Given the description of an element on the screen output the (x, y) to click on. 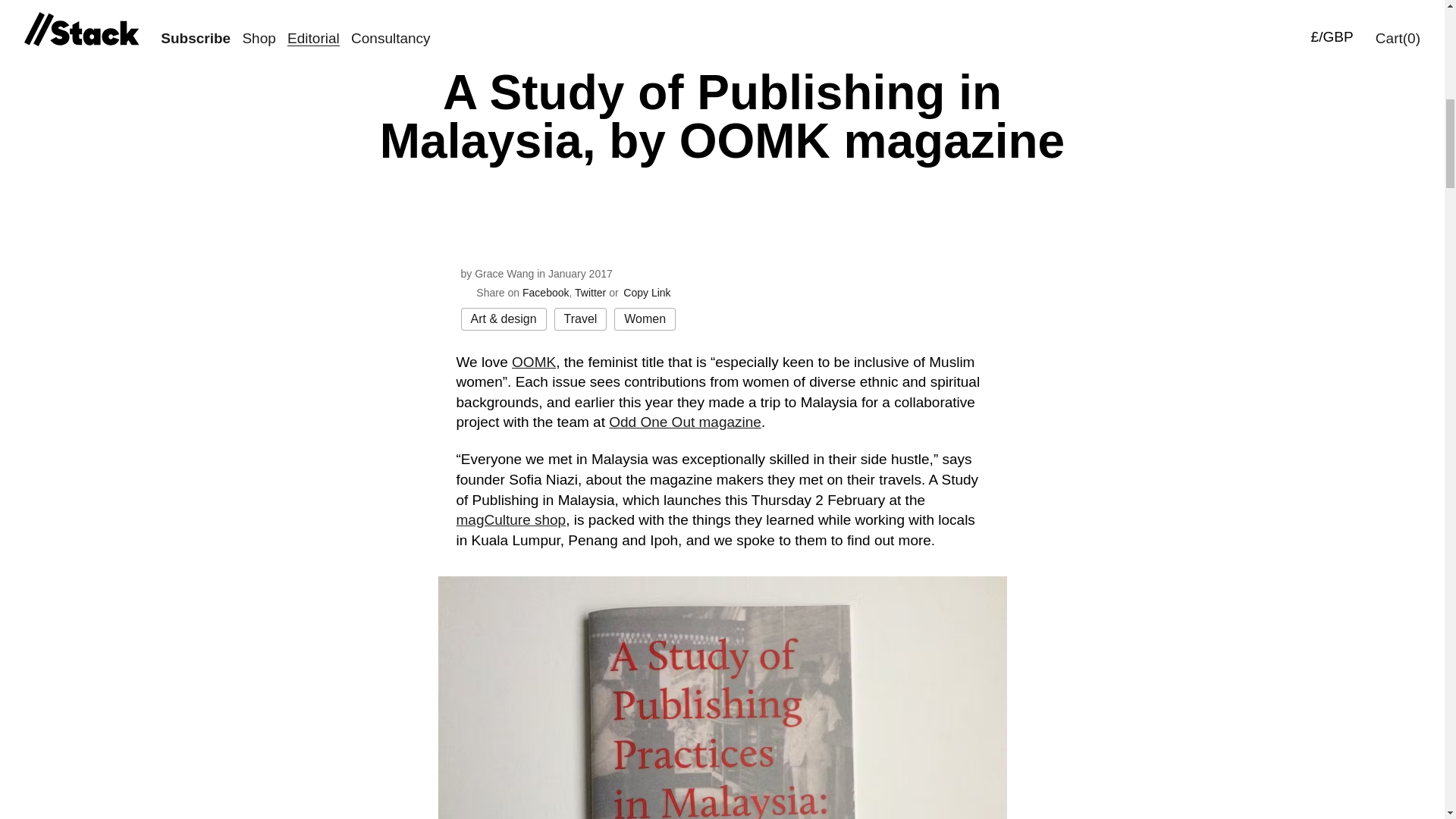
Women (644, 318)
Odd One Out magazine (684, 421)
magCulture shop (511, 519)
Twitter (590, 292)
OOMK (534, 361)
Facebook (545, 292)
Travel (580, 318)
Copy Link (646, 293)
